Given the description of an element on the screen output the (x, y) to click on. 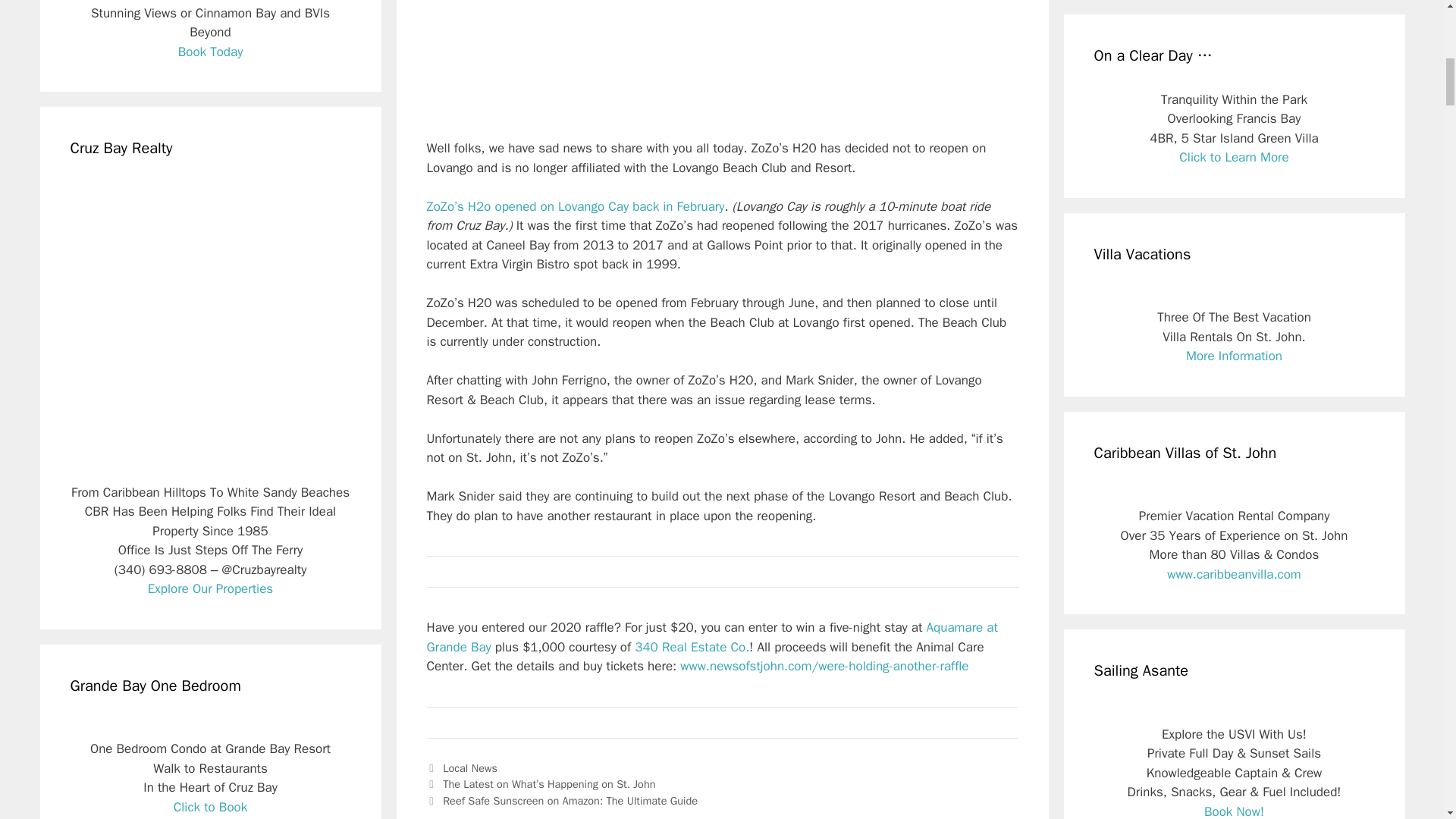
Previous (540, 784)
Local News (469, 767)
Next (561, 800)
340 Real Estate Co. (691, 647)
Reef Safe Sunscreen on Amazon: The Ultimate Guide (569, 800)
Aquamare at Grande Bay (711, 637)
